Given the description of an element on the screen output the (x, y) to click on. 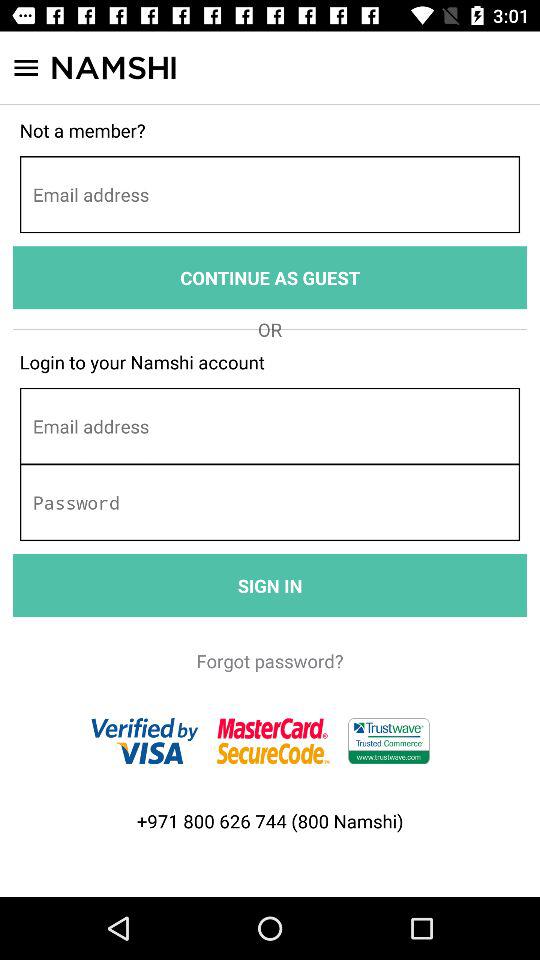
turn on continue as guest item (269, 277)
